Given the description of an element on the screen output the (x, y) to click on. 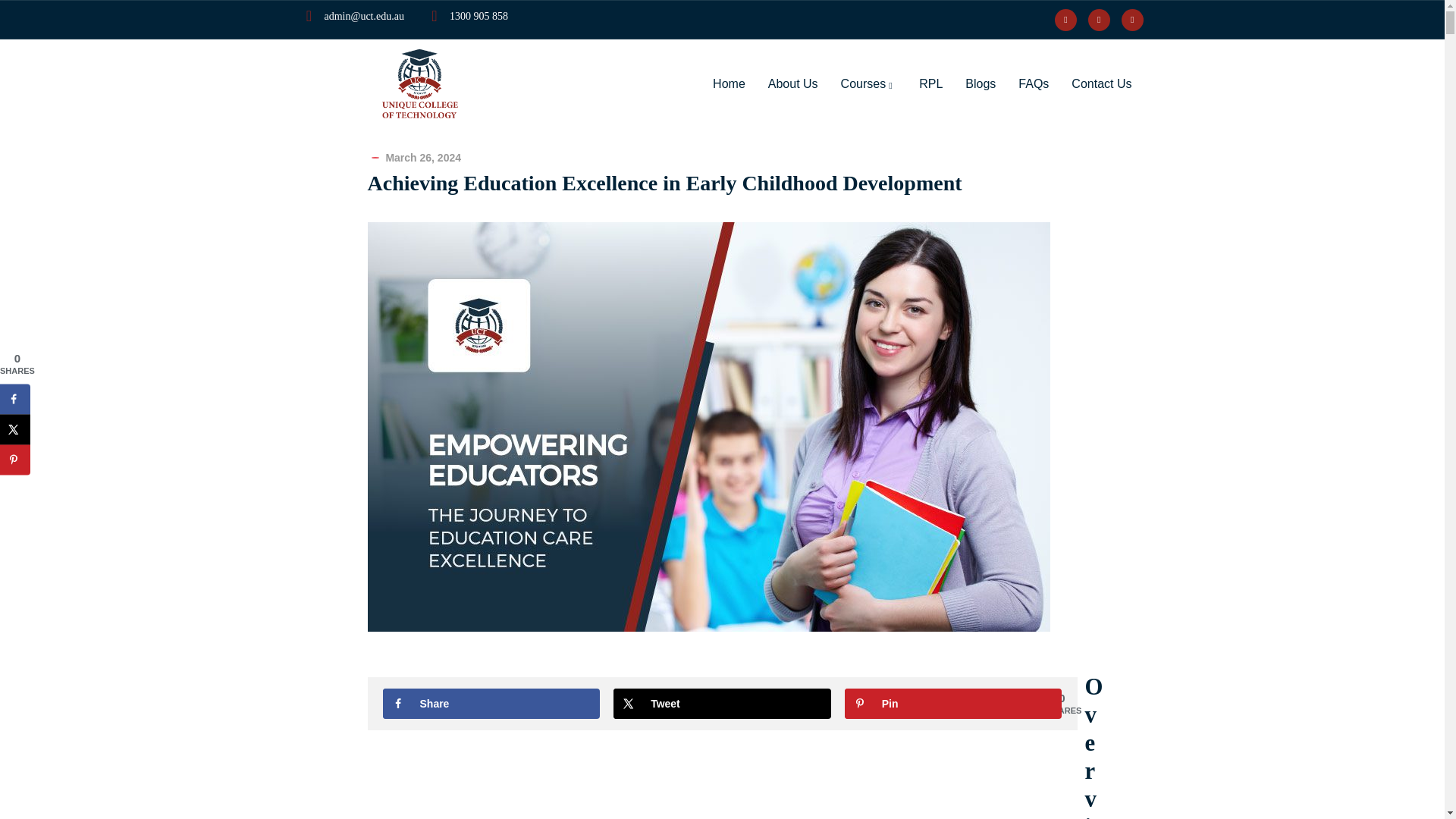
About Us (793, 84)
Save to Pinterest (953, 703)
Tweet (721, 703)
FAQs (1033, 84)
Save to Pinterest (15, 459)
Home (729, 84)
Home (419, 83)
Blogs (980, 84)
Share on X (15, 429)
Share on X (721, 703)
